Given the description of an element on the screen output the (x, y) to click on. 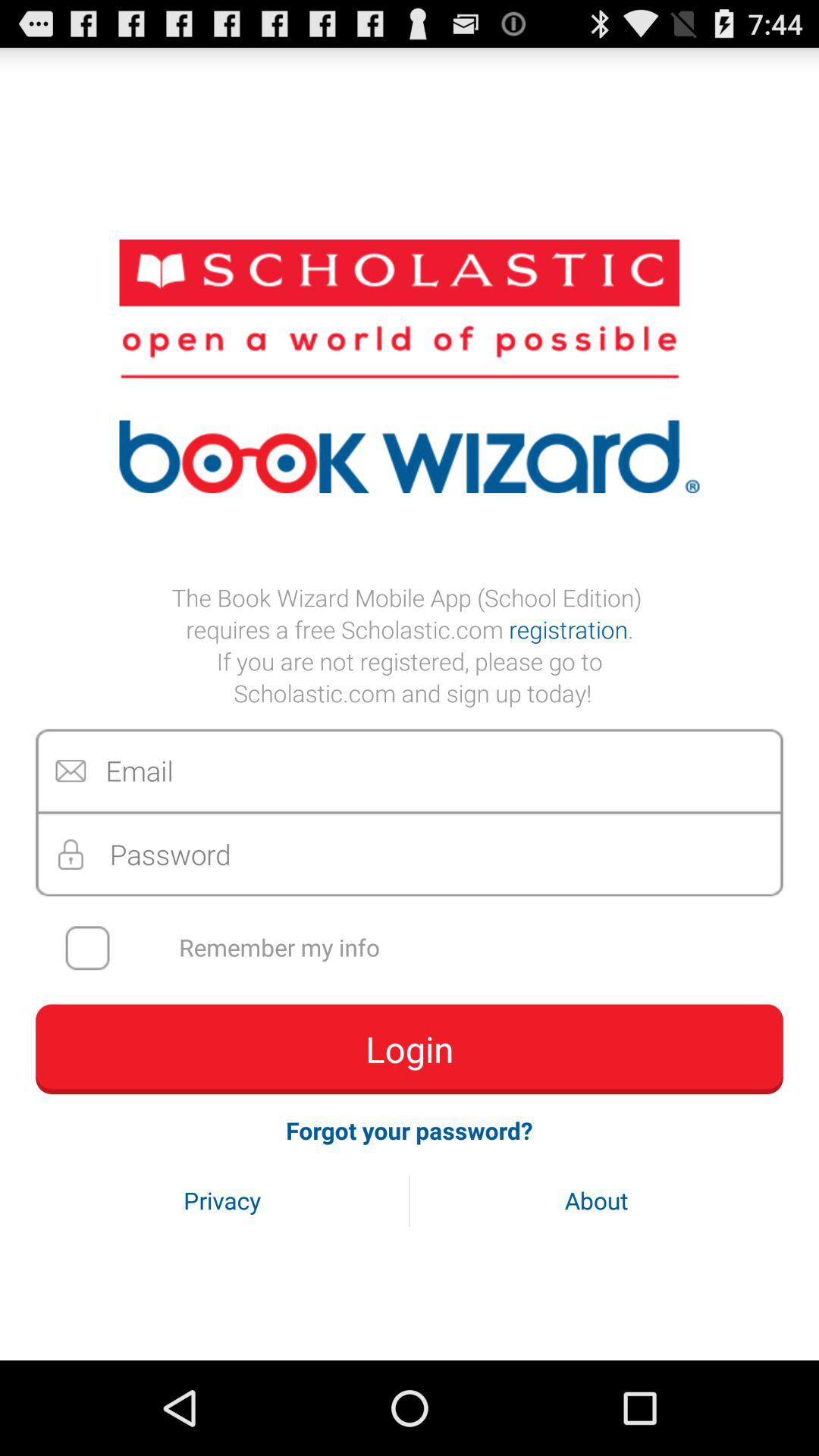
enter email (409, 770)
